Given the description of an element on the screen output the (x, y) to click on. 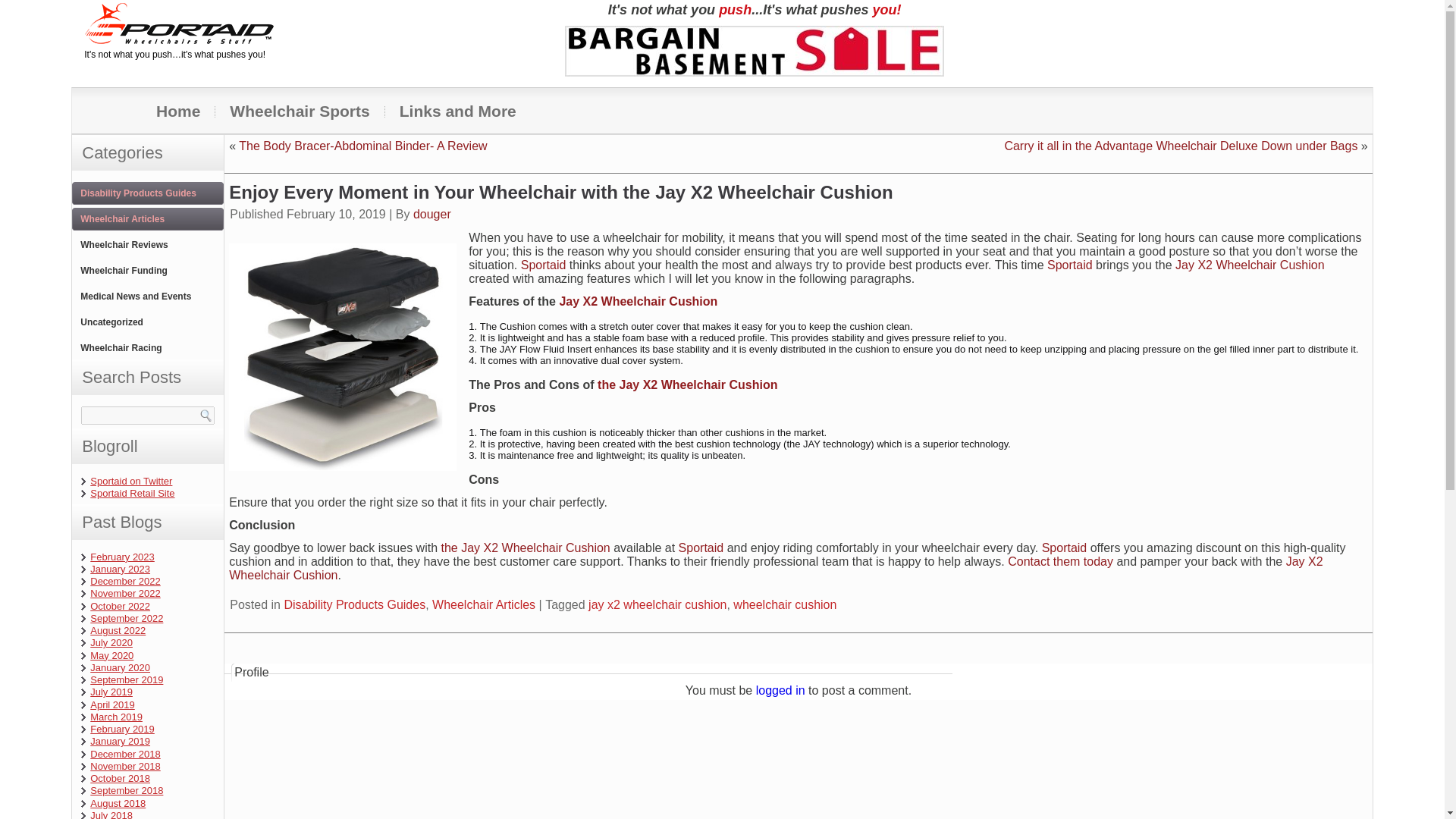
3:53 am (335, 214)
September 2022 (126, 618)
Home (177, 111)
April 2019 (112, 704)
Sportaid Retail Site (132, 492)
Home (177, 111)
August 2018 (117, 803)
July 2019 (111, 691)
October 2022 (119, 605)
